Given the description of an element on the screen output the (x, y) to click on. 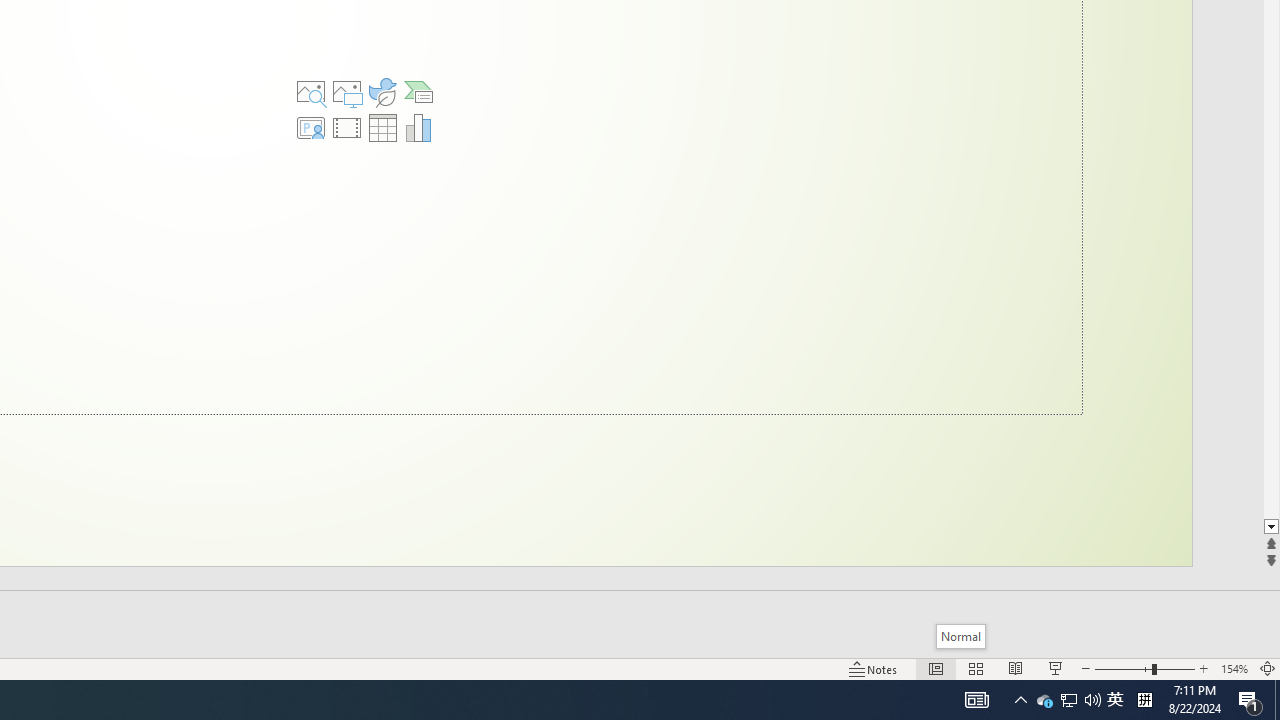
Insert Video (347, 128)
